Given the description of an element on the screen output the (x, y) to click on. 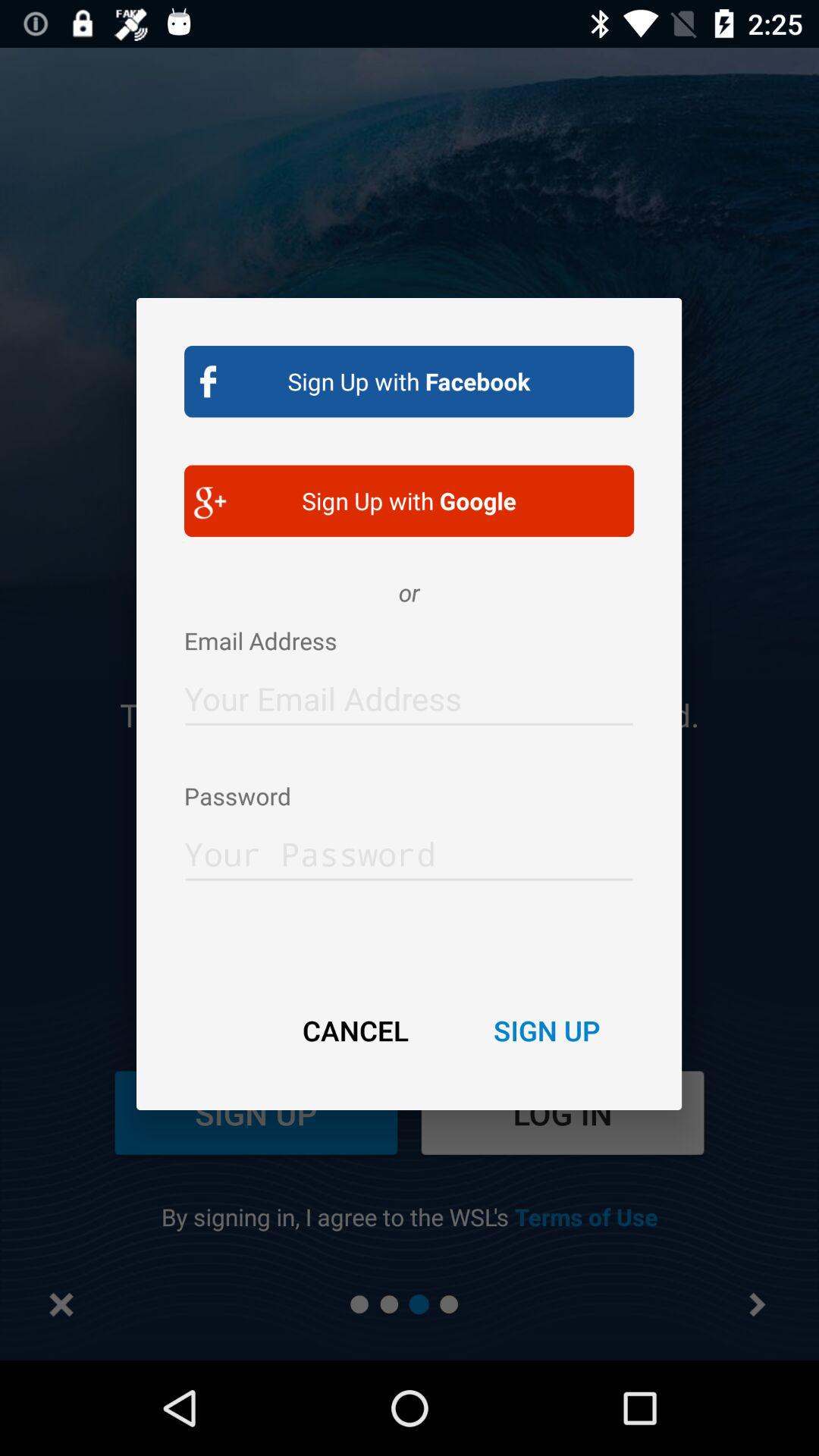
enter email address (408, 693)
